Given the description of an element on the screen output the (x, y) to click on. 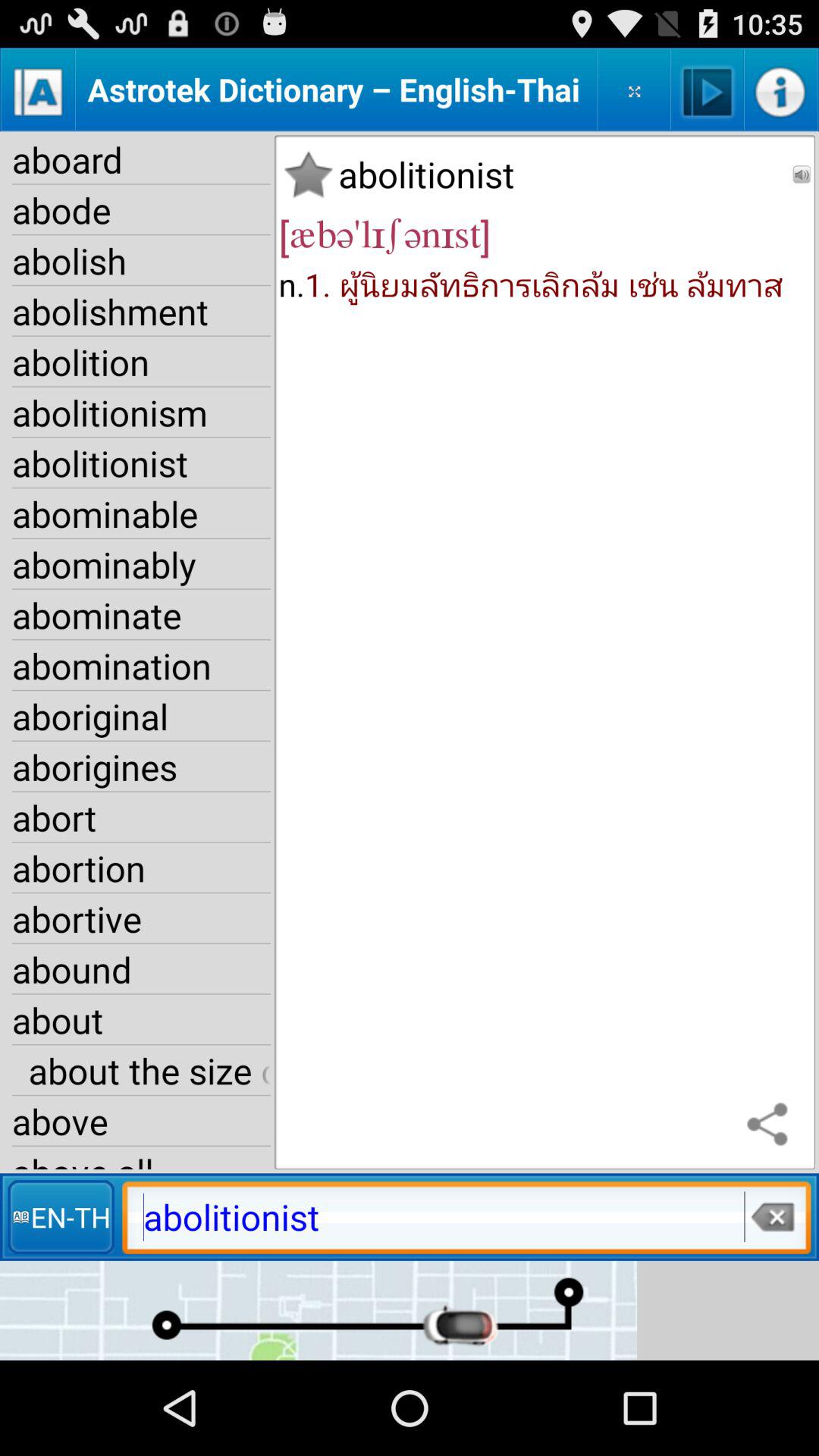
share the name (771, 1125)
